Given the description of an element on the screen output the (x, y) to click on. 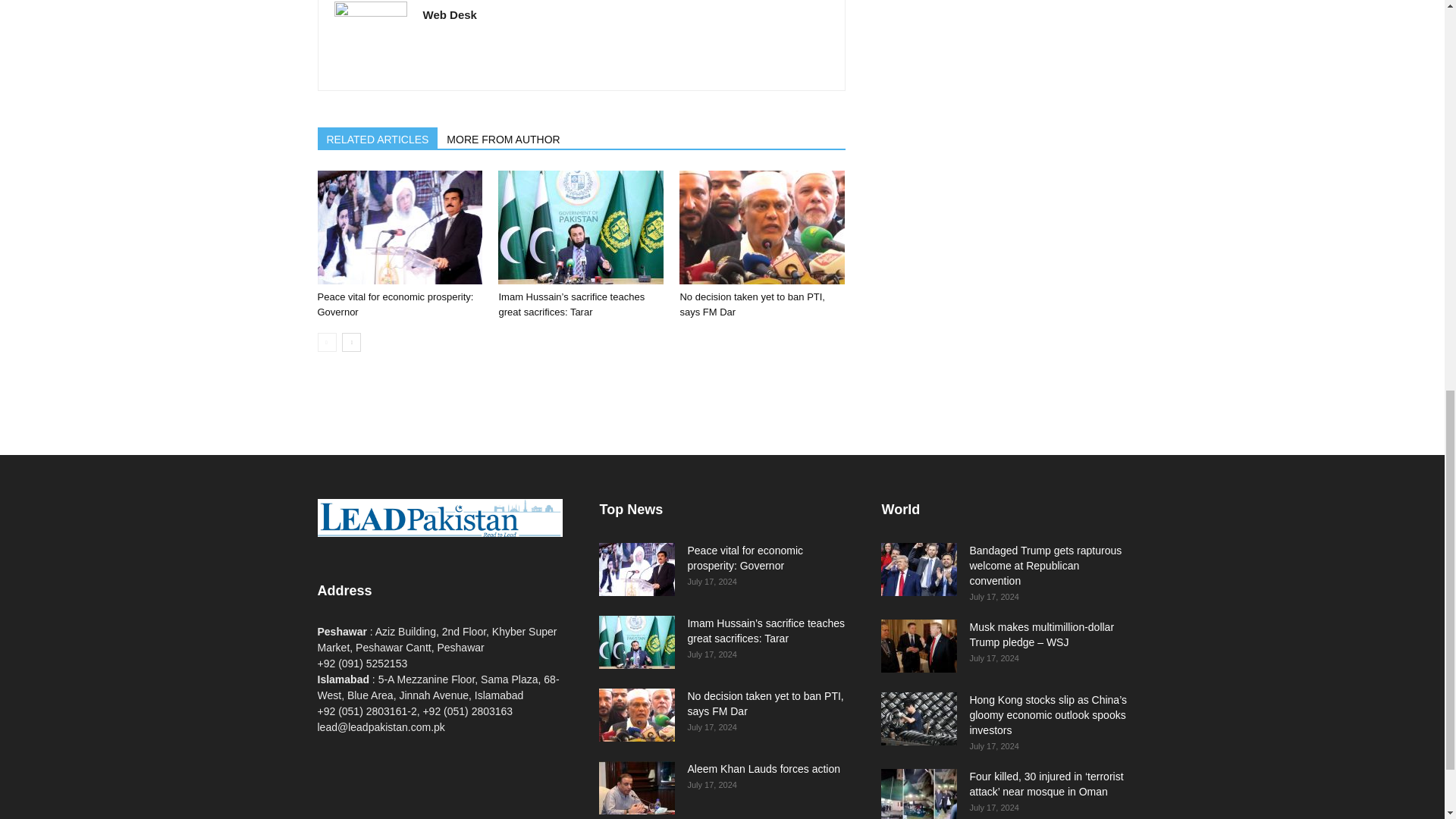
Peace vital for economic prosperity: Governor (395, 304)
Peace vital for economic prosperity: Governor (399, 227)
